Given the description of an element on the screen output the (x, y) to click on. 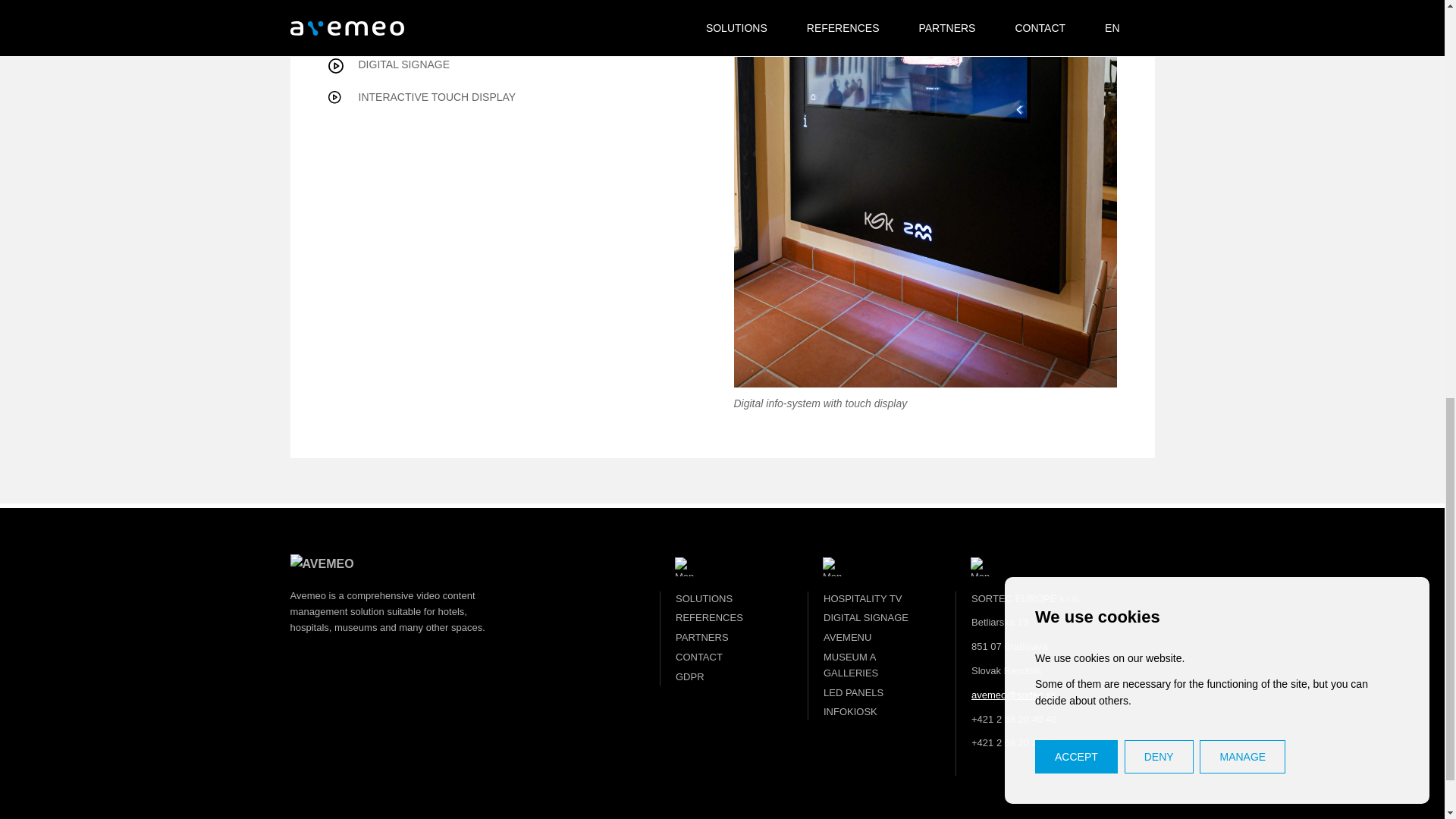
DIGITAL SIGNAGE (866, 619)
SOLUTIONS (703, 600)
HOSPITALITY TV (862, 600)
PARTNERS (702, 639)
MUSEUM A GALLERIES (850, 666)
LED PANELS (853, 694)
REFERENCES (708, 619)
AVEMENU (847, 639)
INFOKIOSK (850, 713)
